Given the description of an element on the screen output the (x, y) to click on. 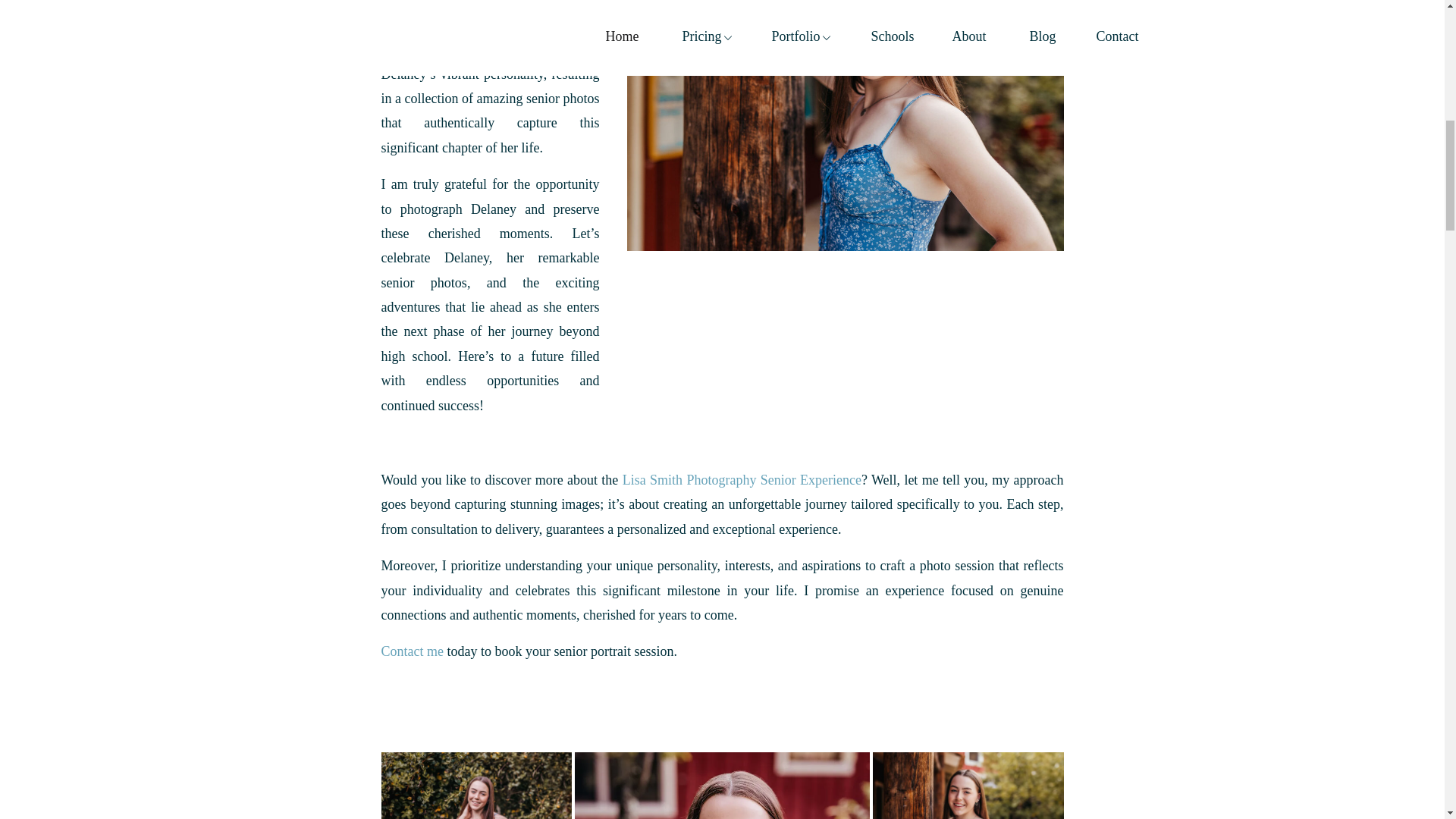
Contact me (411, 651)
Lisa Smith Photography Senior Experience (742, 479)
